Given the description of an element on the screen output the (x, y) to click on. 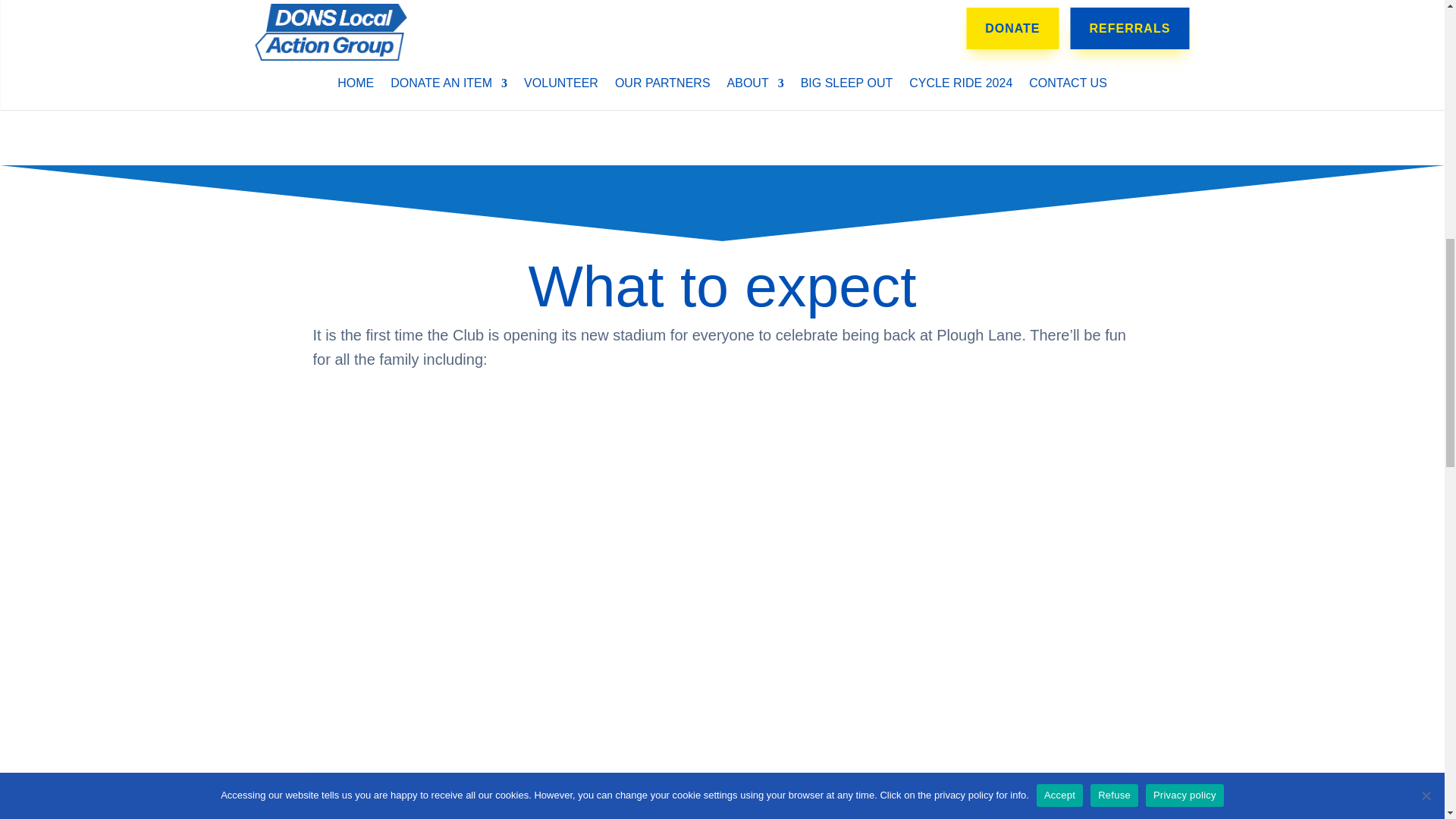
WhatsApp Image 2022-05-09 at 8.39.30 AM (722, 792)
